Given the description of an element on the screen output the (x, y) to click on. 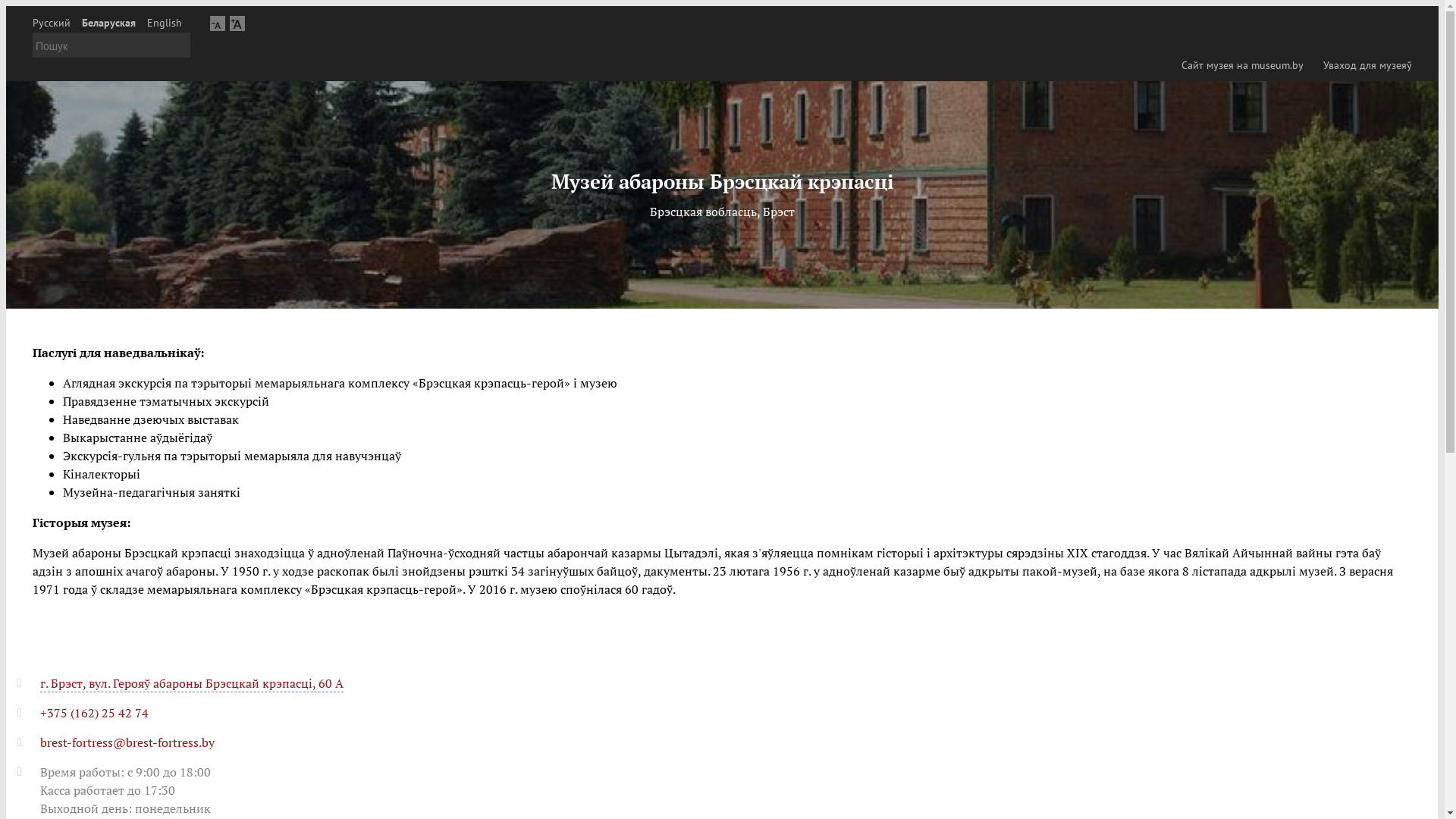
+375 (162) 25 42 74 Element type: text (94, 712)
brest-fortress@brest-fortress.by Element type: text (127, 742)
A Element type: text (236, 22)
A Element type: text (217, 22)
English Element type: text (164, 23)
